Given the description of an element on the screen output the (x, y) to click on. 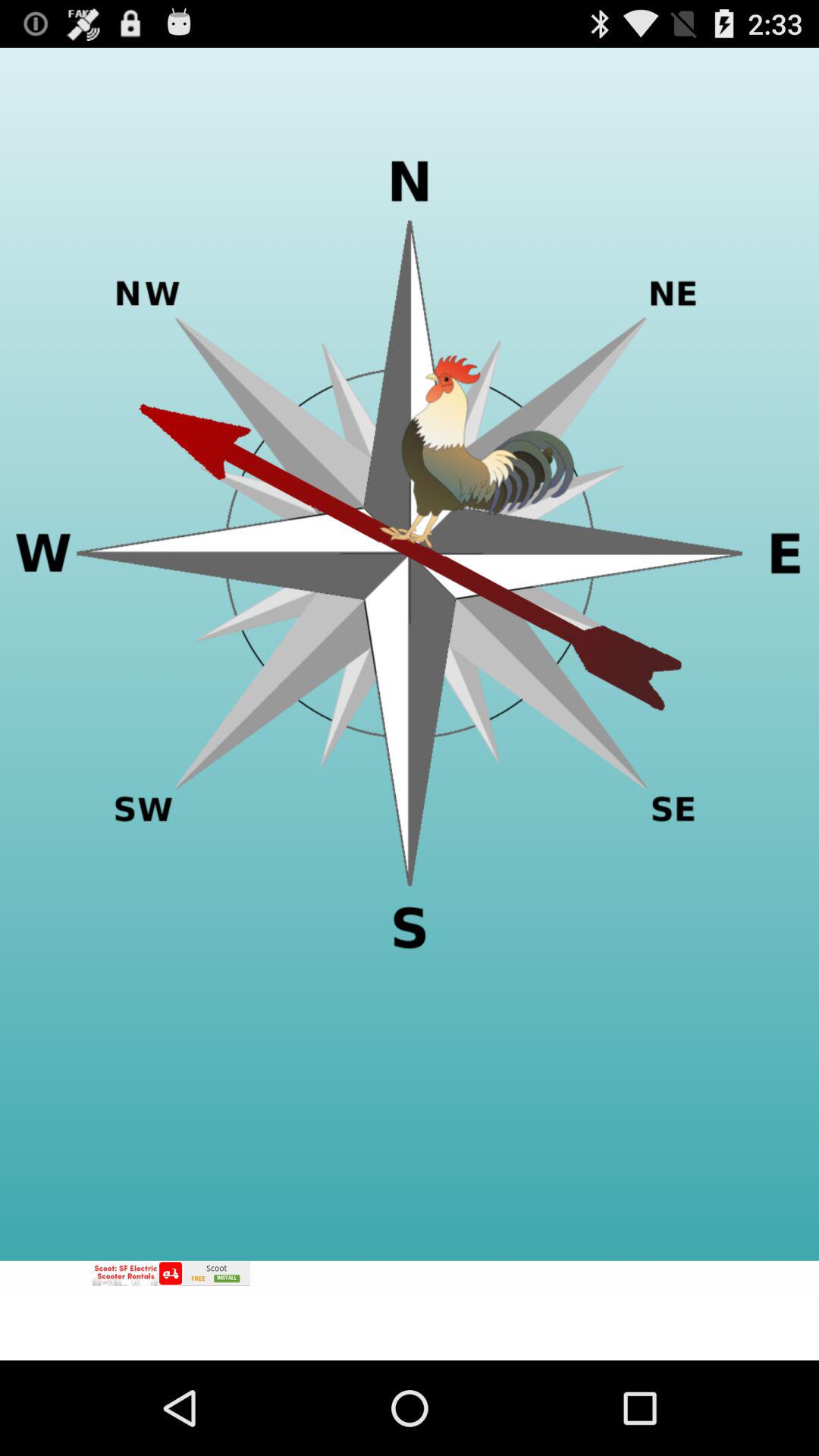
advertisement portion (409, 1310)
